Given the description of an element on the screen output the (x, y) to click on. 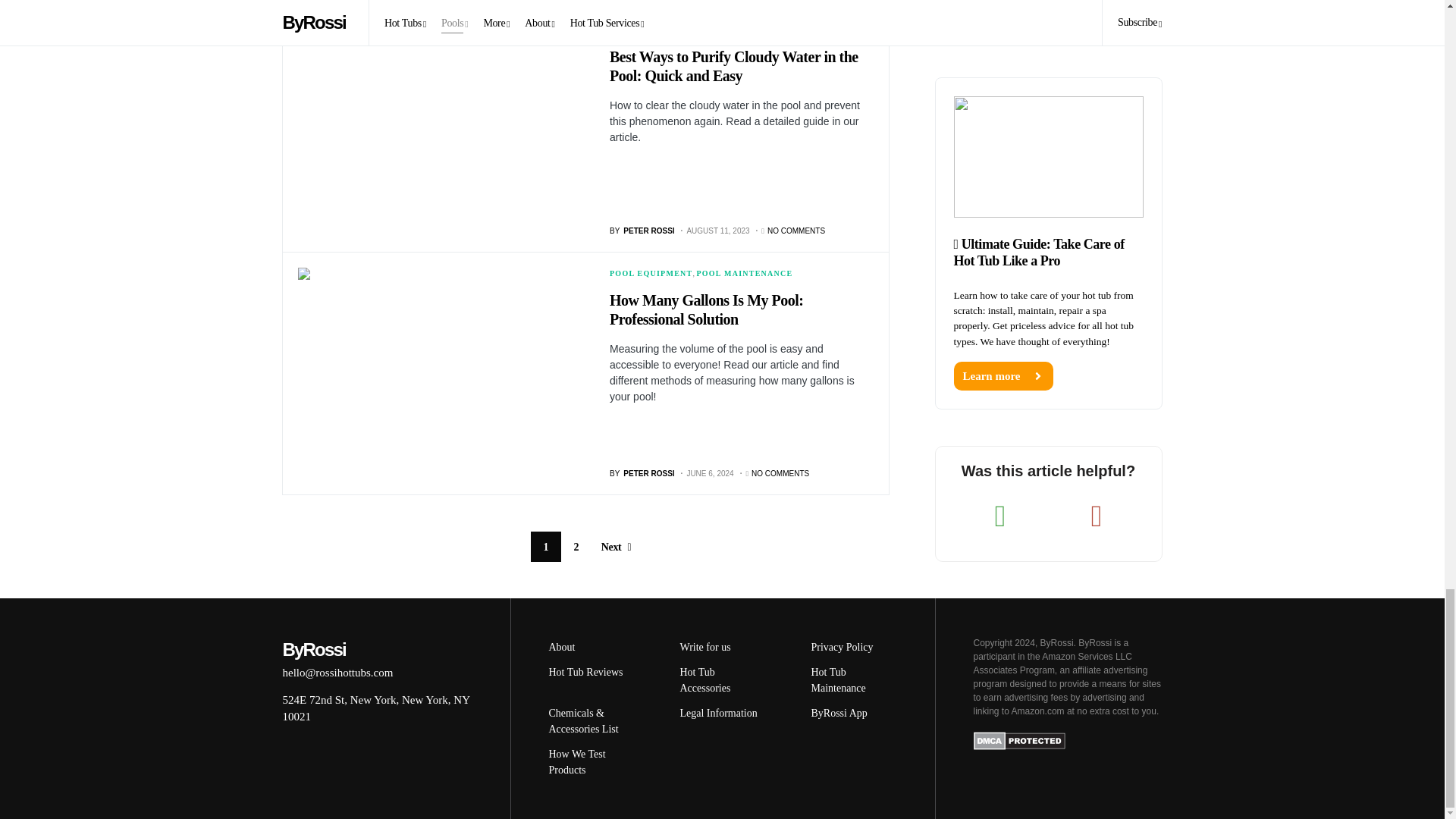
View all posts by Peter Rossi (642, 473)
View all posts by Peter Rossi (642, 230)
DMCA.com Protection Status (1019, 739)
